Given the description of an element on the screen output the (x, y) to click on. 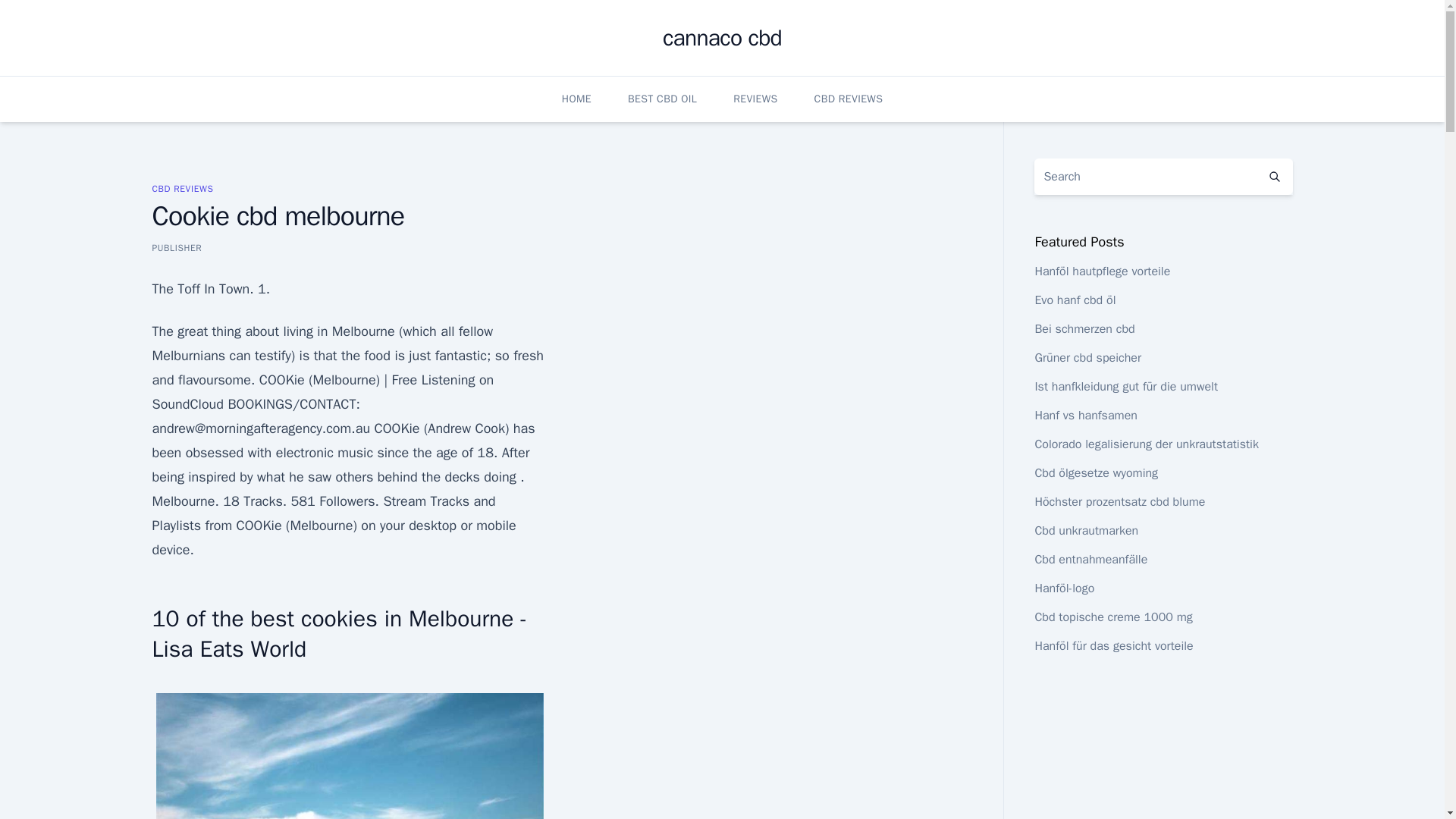
CBD REVIEWS (181, 188)
PUBLISHER (176, 247)
REVIEWS (755, 99)
cannaco cbd (721, 37)
Hanf vs hanfsamen (1085, 415)
Bei schmerzen cbd (1083, 328)
CBD REVIEWS (848, 99)
BEST CBD OIL (662, 99)
